Given the description of an element on the screen output the (x, y) to click on. 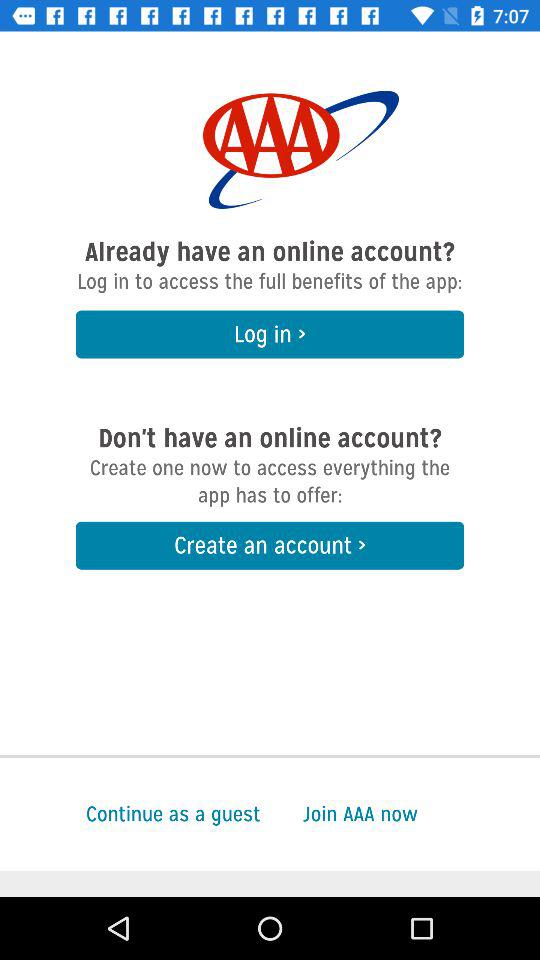
choose item next to join aaa now icon (130, 814)
